Given the description of an element on the screen output the (x, y) to click on. 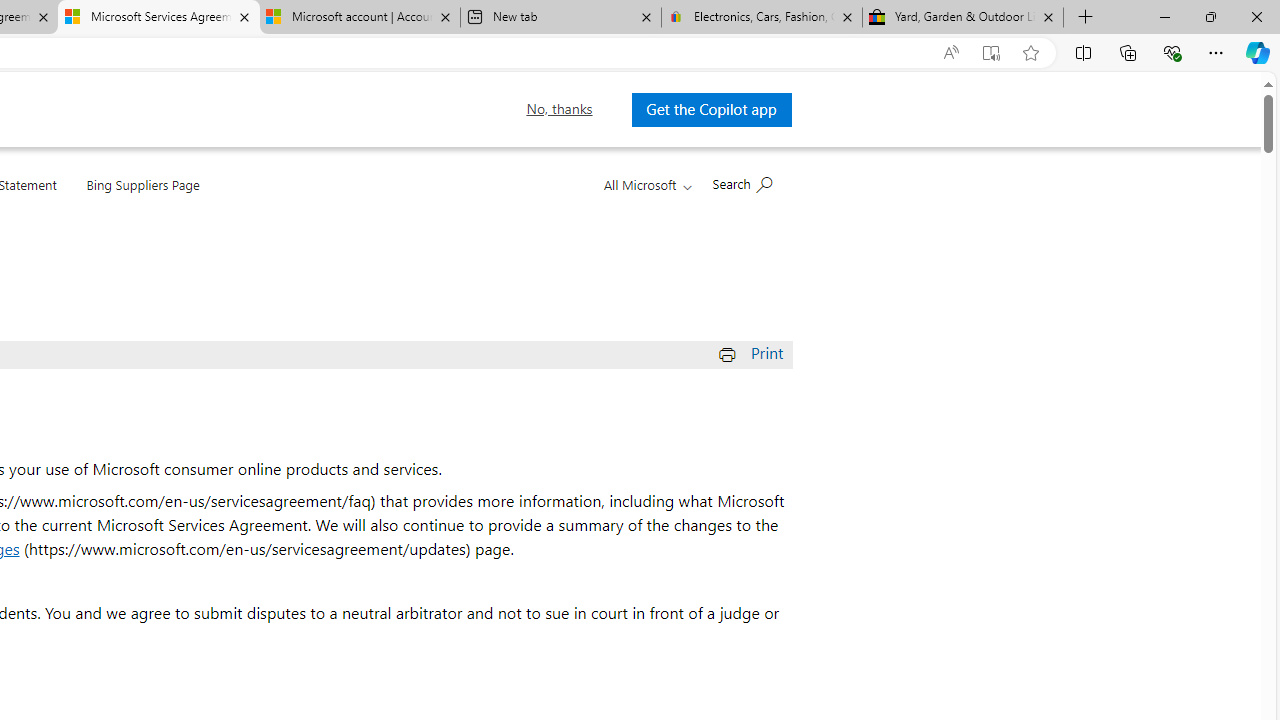
Enter Immersive Reader (F9) (991, 53)
Microsoft account | Account Checkup (359, 17)
Microsoft Services Agreement (158, 17)
Print (753, 352)
Bing Suppliers Page (142, 181)
Yard, Garden & Outdoor Living (962, 17)
Get the Copilot app  (711, 109)
